Given the description of an element on the screen output the (x, y) to click on. 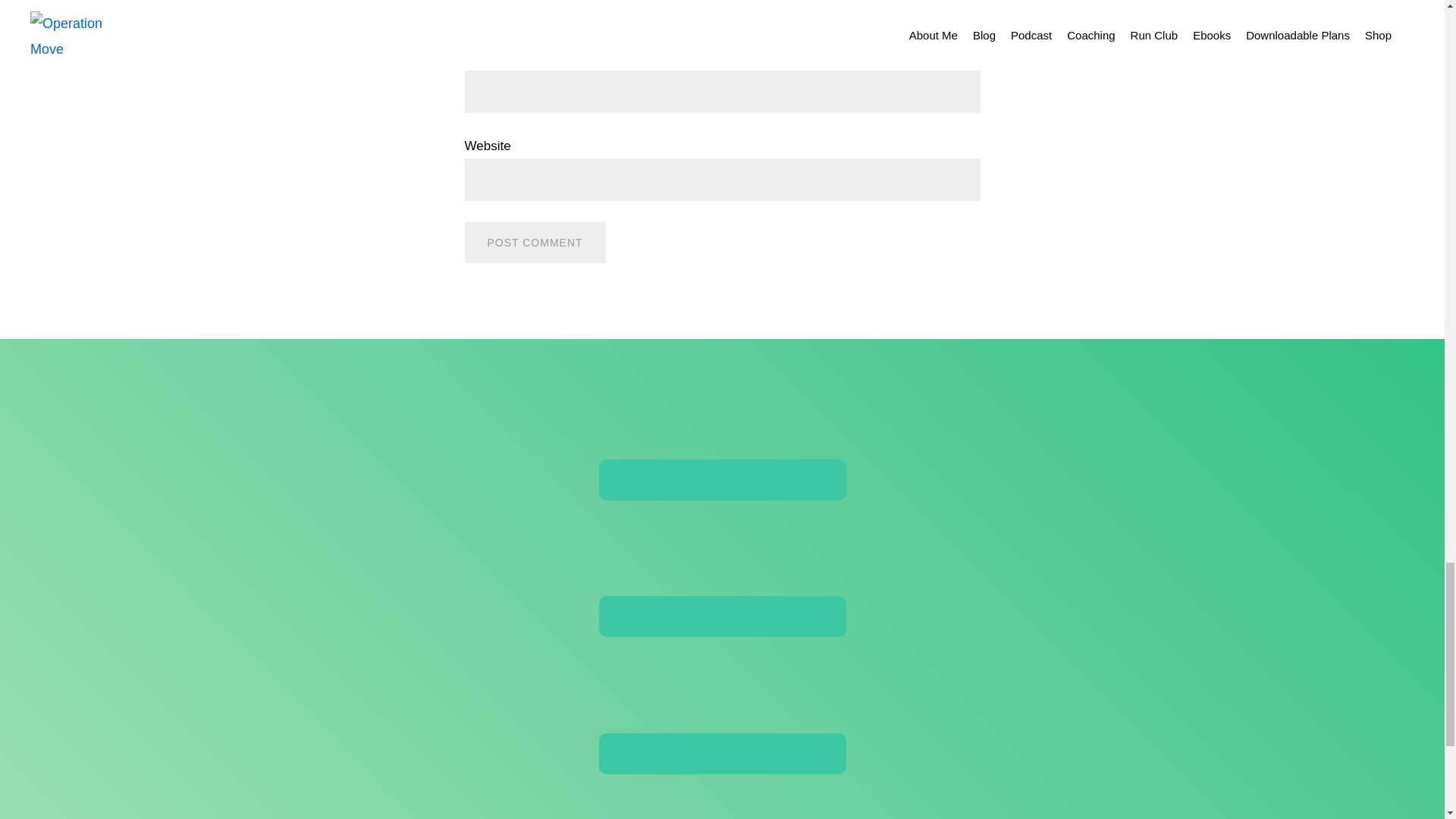
Post Comment (534, 241)
Instagram (721, 703)
Email (721, 429)
Twitter (721, 800)
Facebook (721, 566)
